Given the description of an element on the screen output the (x, y) to click on. 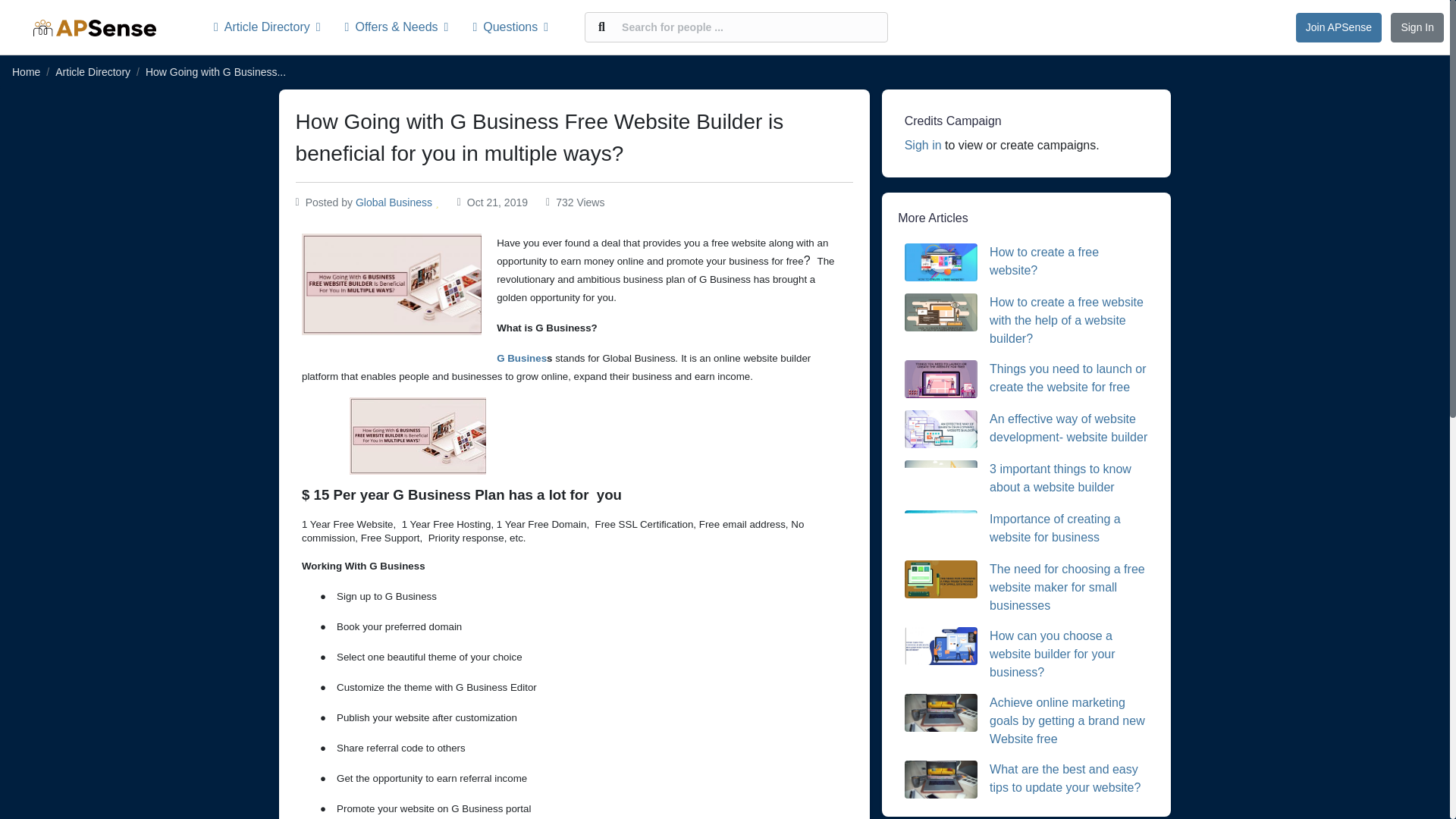
Sigh in (923, 144)
Article Directory (93, 71)
Questions (510, 27)
Sign In (1417, 27)
Home (25, 71)
G Busines (521, 357)
Things you need to launch or create the website for free (1067, 377)
Global Business (393, 202)
An effective way of website development- website builder (1068, 427)
Join APSense (1338, 27)
